Given the description of an element on the screen output the (x, y) to click on. 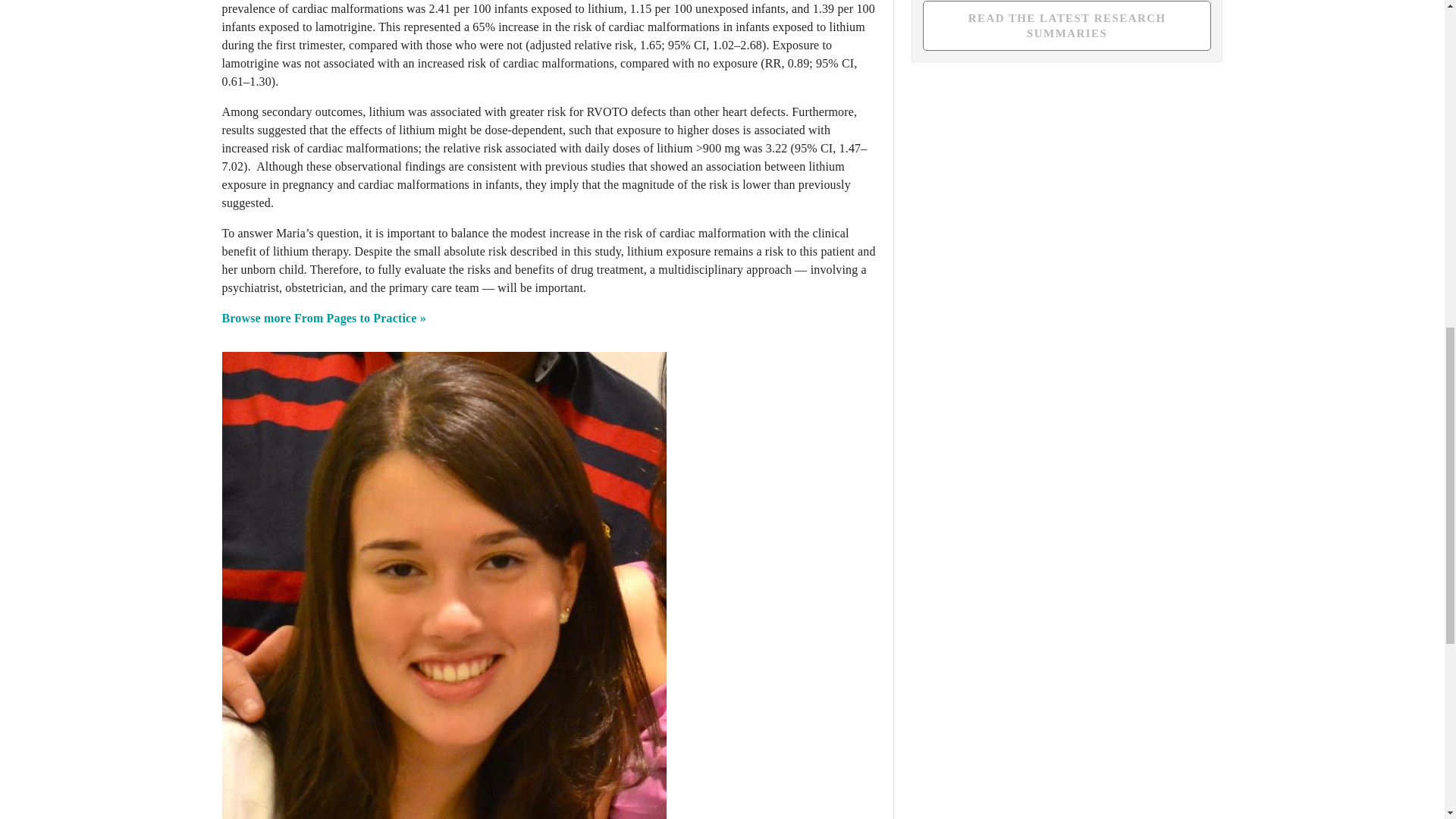
READ THE LATEST RESEARCH SUMMARIES (1067, 25)
